Given the description of an element on the screen output the (x, y) to click on. 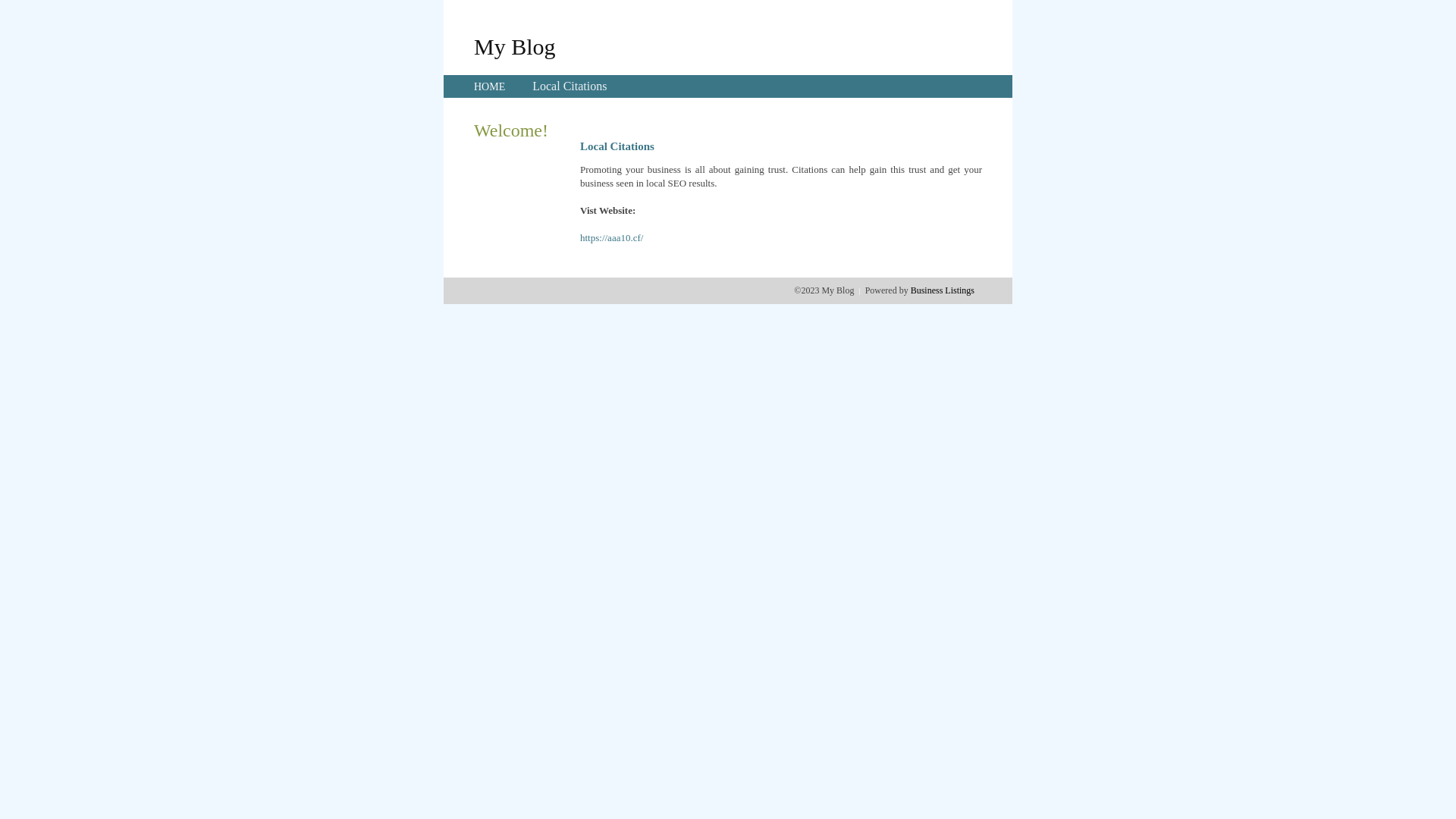
Business Listings Element type: text (942, 290)
Local Citations Element type: text (569, 85)
My Blog Element type: text (514, 46)
https://aaa10.cf/ Element type: text (611, 237)
HOME Element type: text (489, 86)
